Given the description of an element on the screen output the (x, y) to click on. 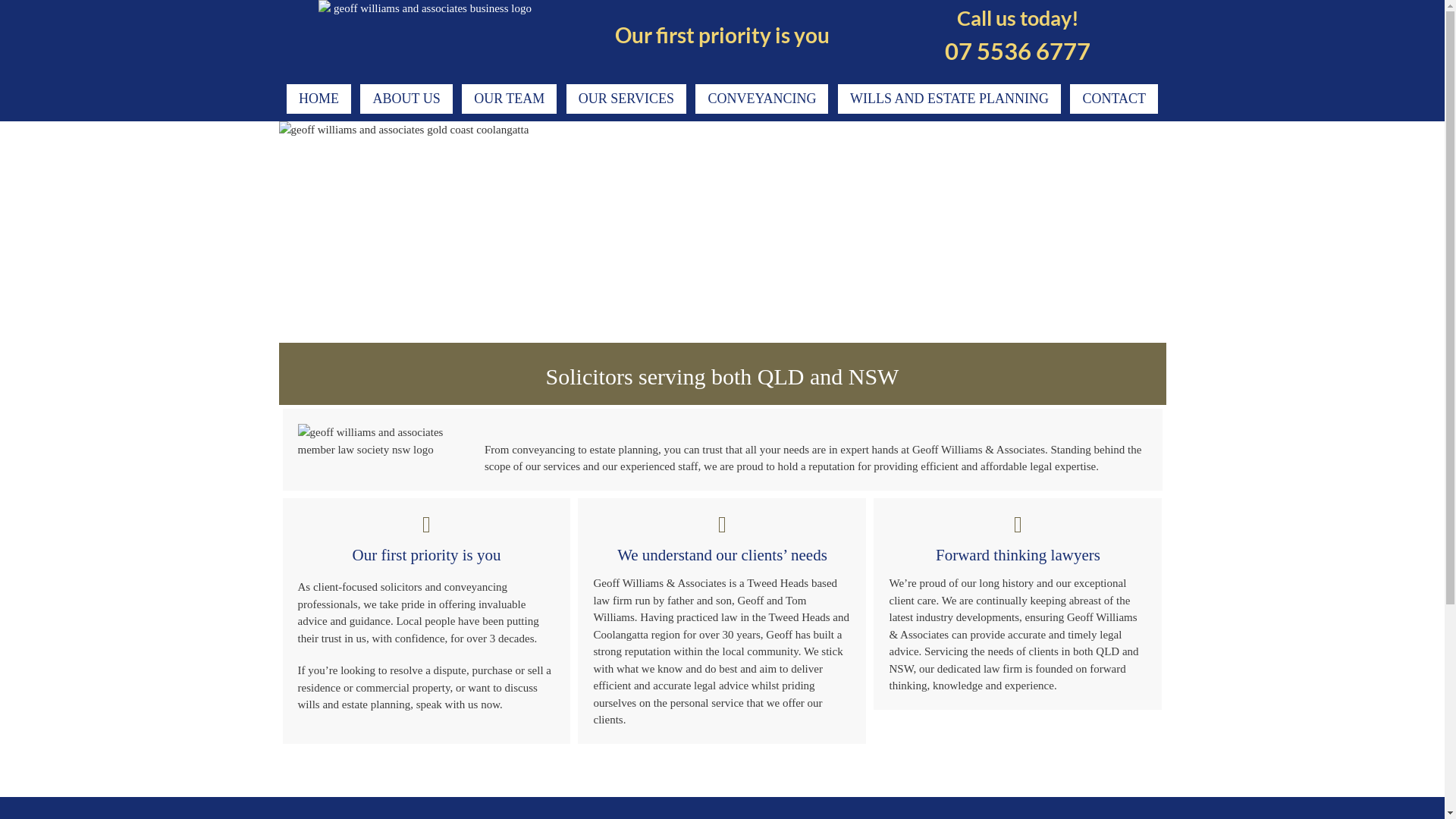
geoff williams and associates gold coast coolangatta Element type: hover (722, 232)
CONVEYANCING Element type: text (761, 98)
geoff williams and associates business logo Element type: hover (426, 38)
OUR TEAM Element type: text (508, 98)
ABOUT US Element type: text (405, 98)
WILLS AND ESTATE PLANNING Element type: text (948, 98)
07 5536 6777 Element type: text (1017, 68)
geoff williams and associates member law society nsw logo Element type: hover (386, 440)
CONTACT Element type: text (1113, 98)
07 5536 6777 Element type: text (882, 773)
HOME Element type: text (318, 98)
OUR SERVICES Element type: text (626, 98)
